Given the description of an element on the screen output the (x, y) to click on. 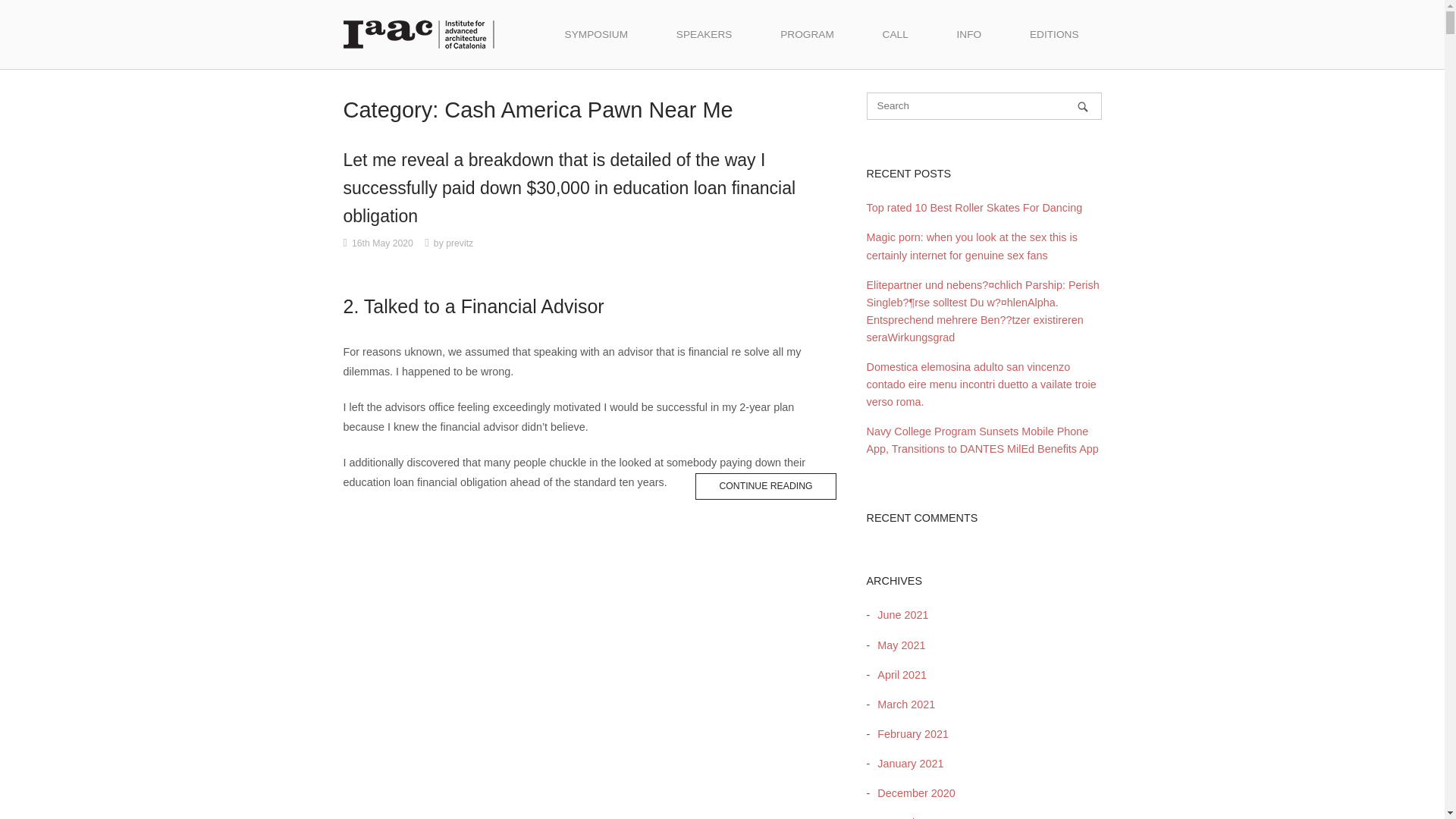
November 2020 (912, 817)
previtz (459, 243)
16th May 2020 (382, 243)
EDITIONS (1054, 34)
PROGRAM (807, 34)
Home (418, 33)
March 2021 (901, 704)
June 2021 (898, 614)
